Given the description of an element on the screen output the (x, y) to click on. 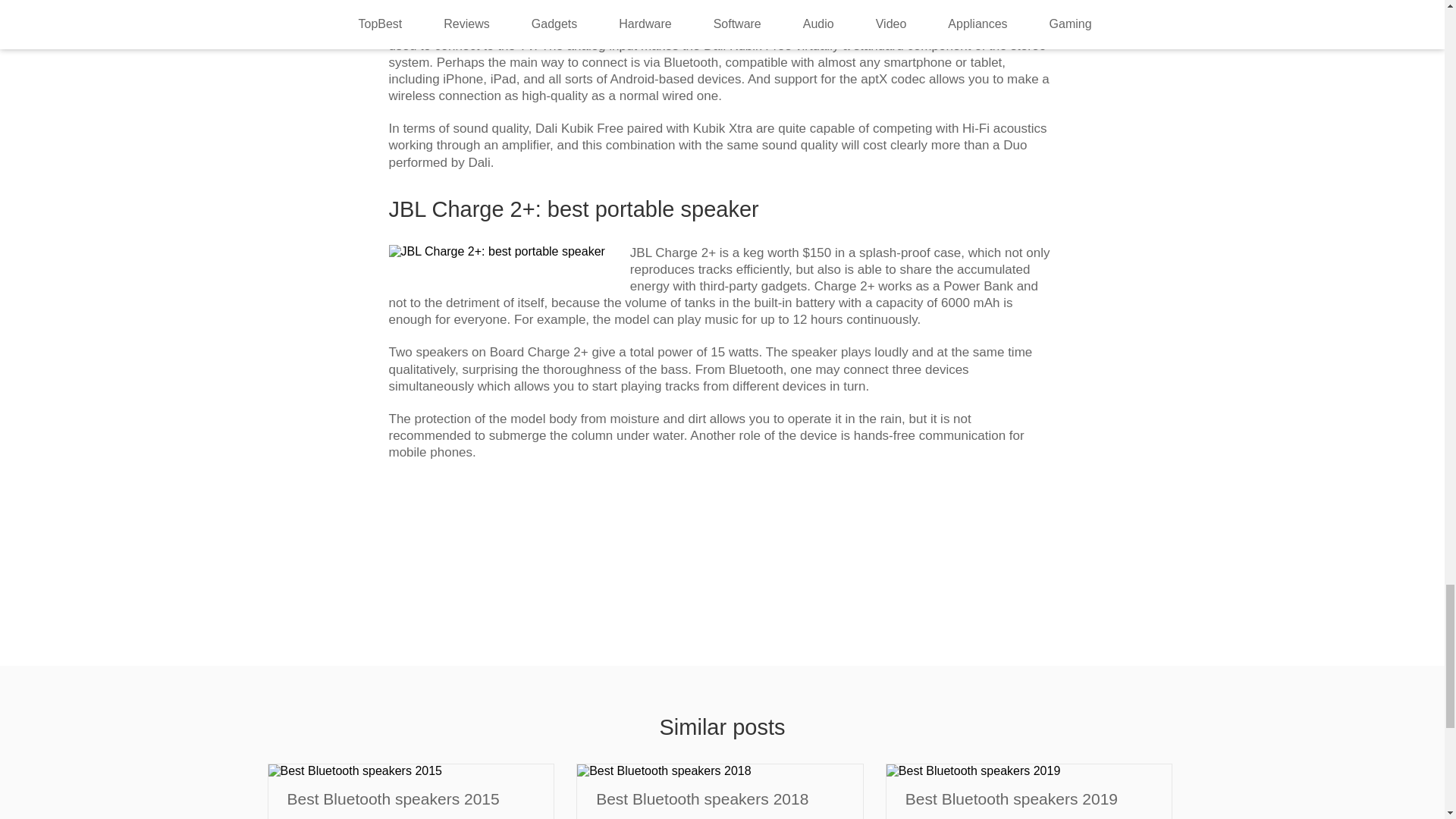
Best Bluetooth speakers 2019 (1029, 799)
Best Bluetooth speakers 2015 (410, 799)
Best Bluetooth speakers 2018 (719, 799)
